Given the description of an element on the screen output the (x, y) to click on. 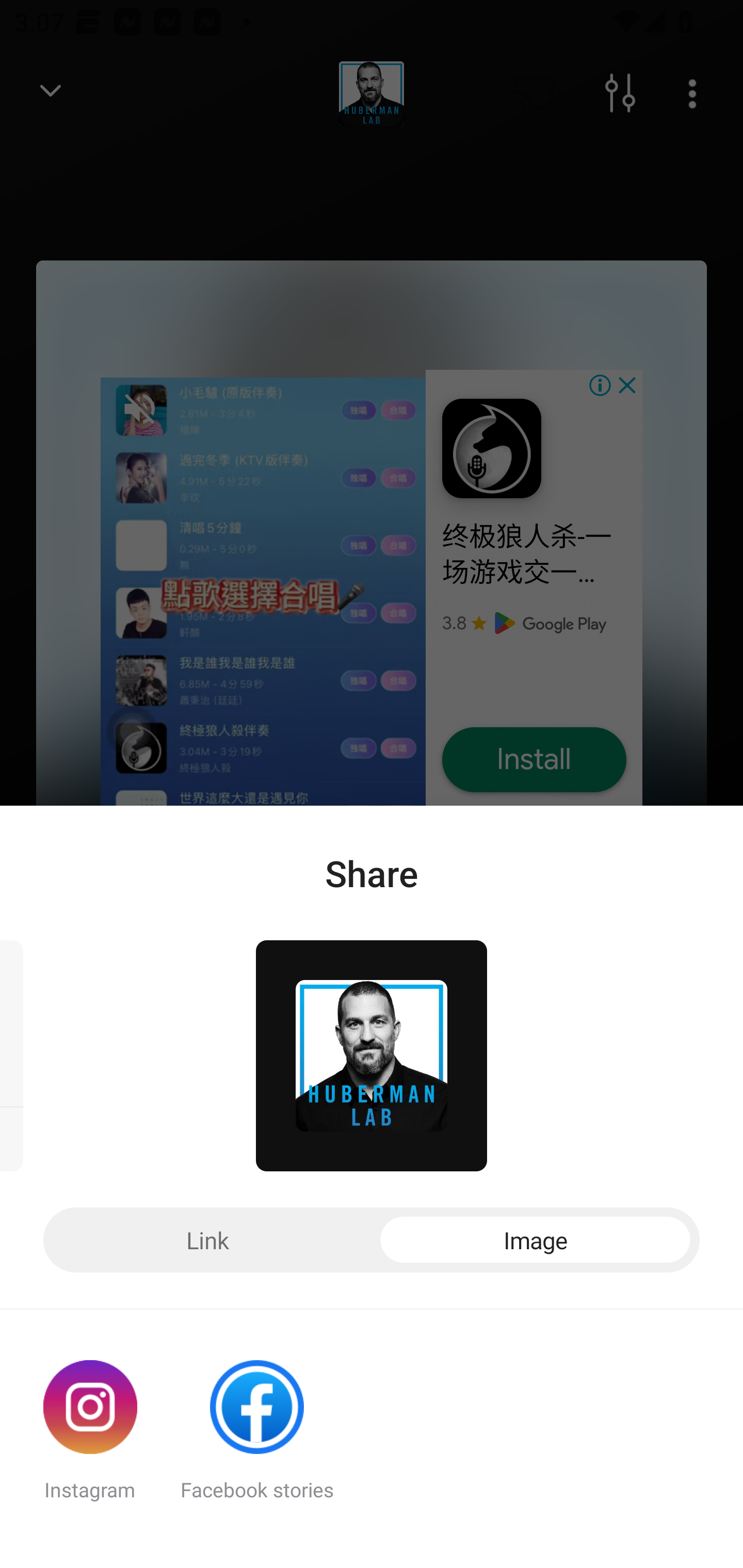
Link (207, 1240)
Image (535, 1240)
Instagram (90, 1438)
Facebook stories (256, 1438)
